Given the description of an element on the screen output the (x, y) to click on. 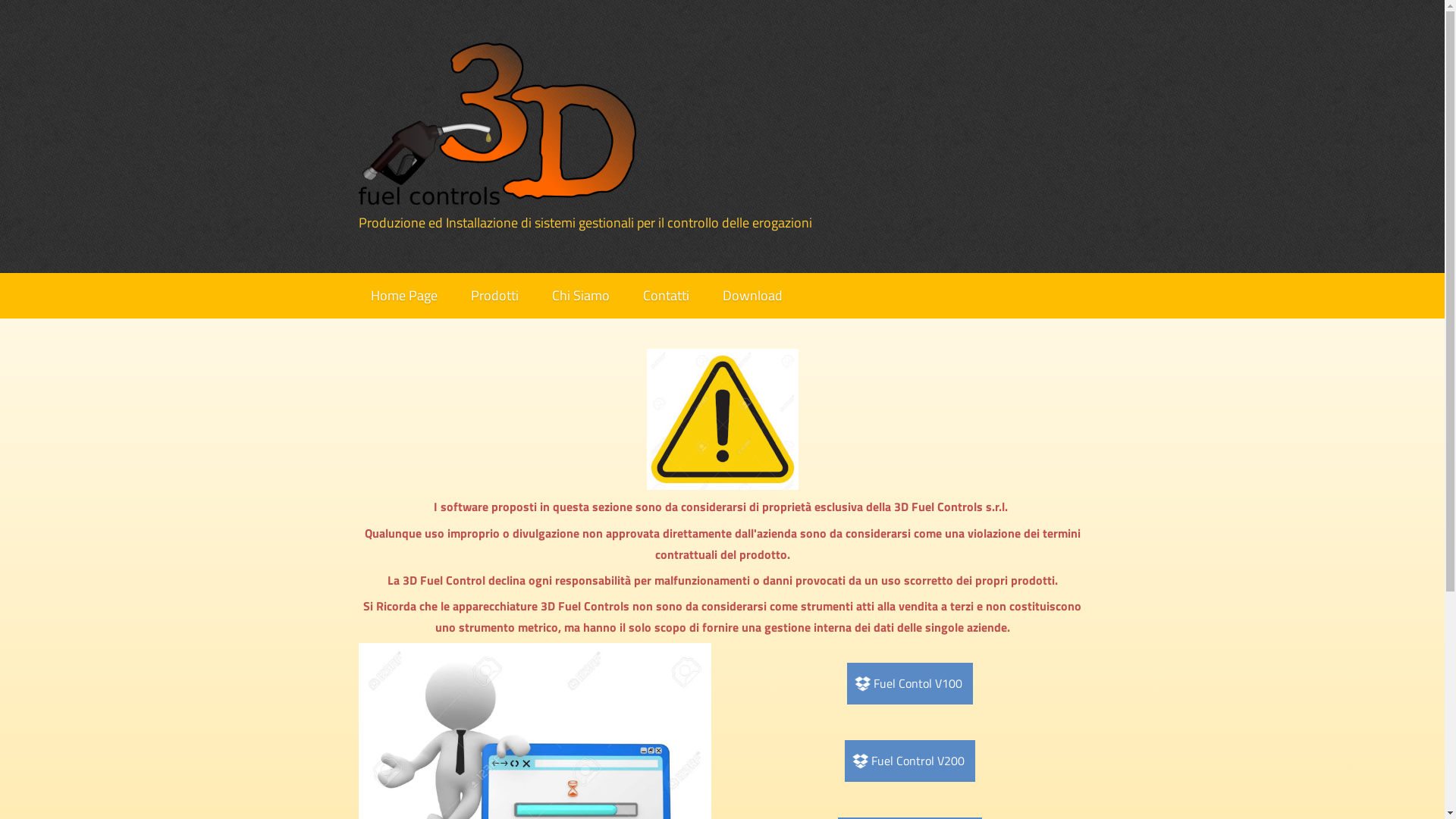
Fuel Control V200 Element type: text (909, 760)
Prodotti Element type: text (494, 295)
Chi Siamo Element type: text (580, 295)
Download Element type: text (751, 295)
Contatti Element type: text (665, 295)
Home Page Element type: text (402, 295)
Fuel Contol V100 Element type: text (909, 683)
